Given the description of an element on the screen output the (x, y) to click on. 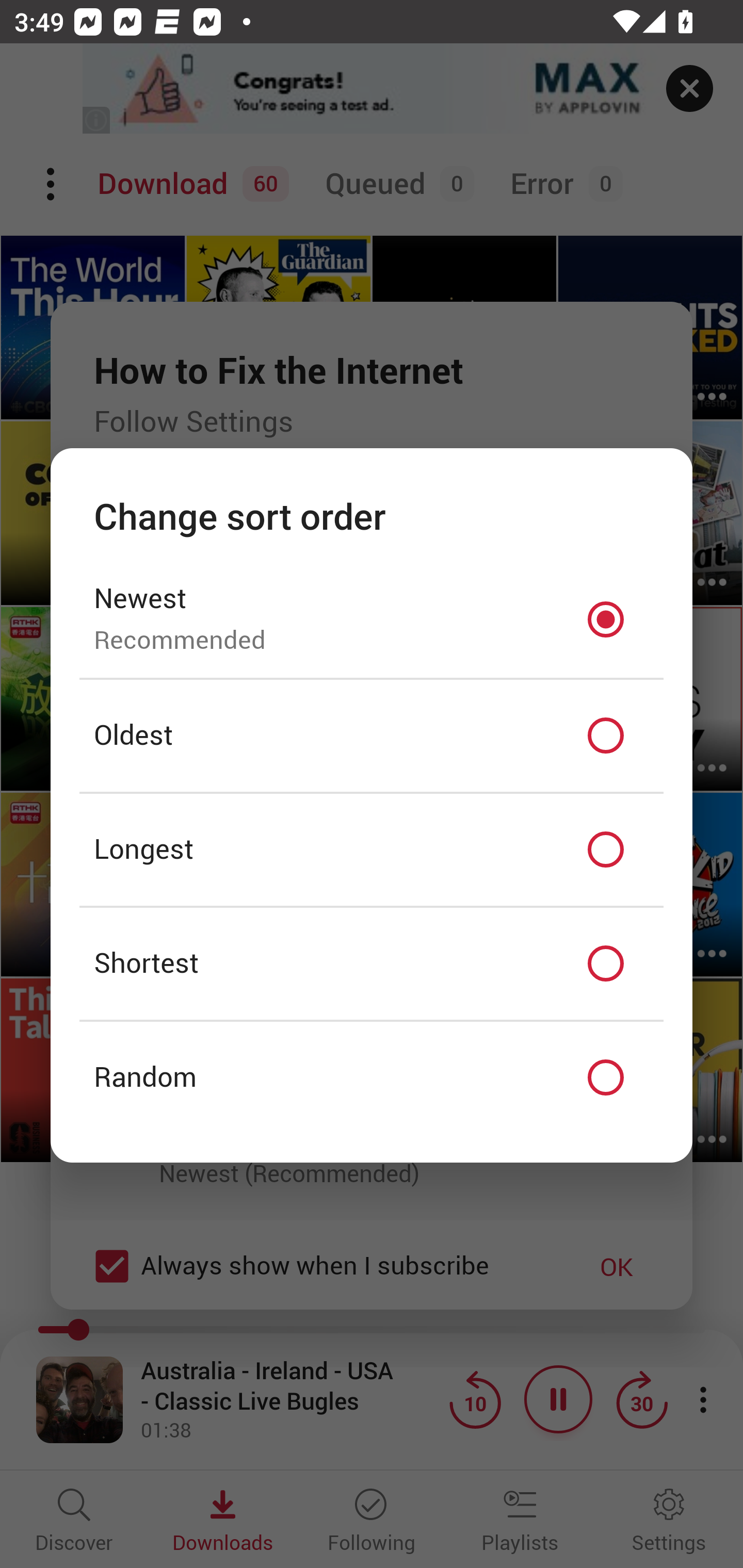
Newest Recommended (371, 619)
Oldest (371, 735)
Longest (371, 849)
Shortest (371, 963)
Random (371, 1077)
